Given the description of an element on the screen output the (x, y) to click on. 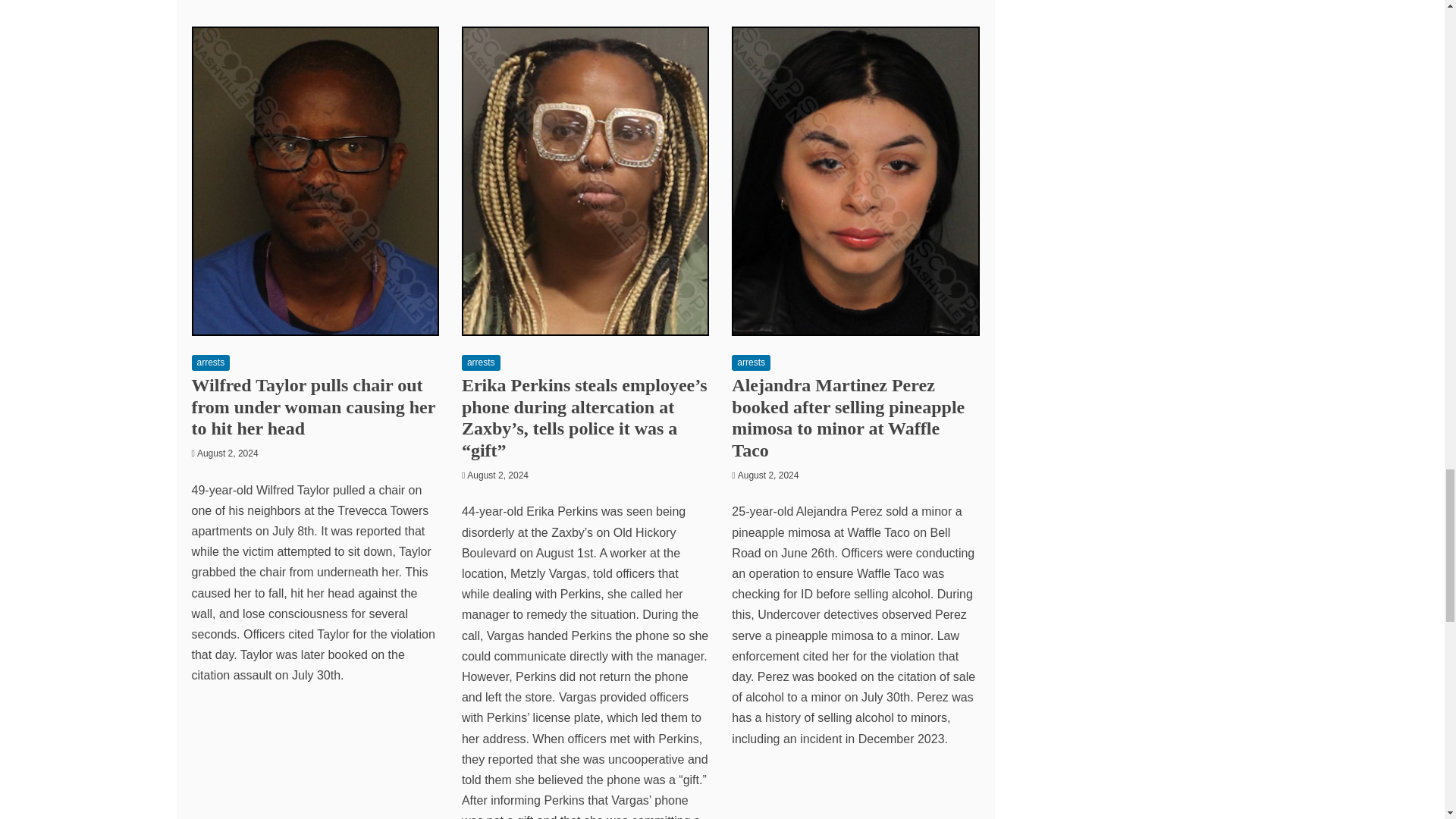
arrests (480, 362)
arrests (210, 362)
August 2, 2024 (227, 452)
